Given the description of an element on the screen output the (x, y) to click on. 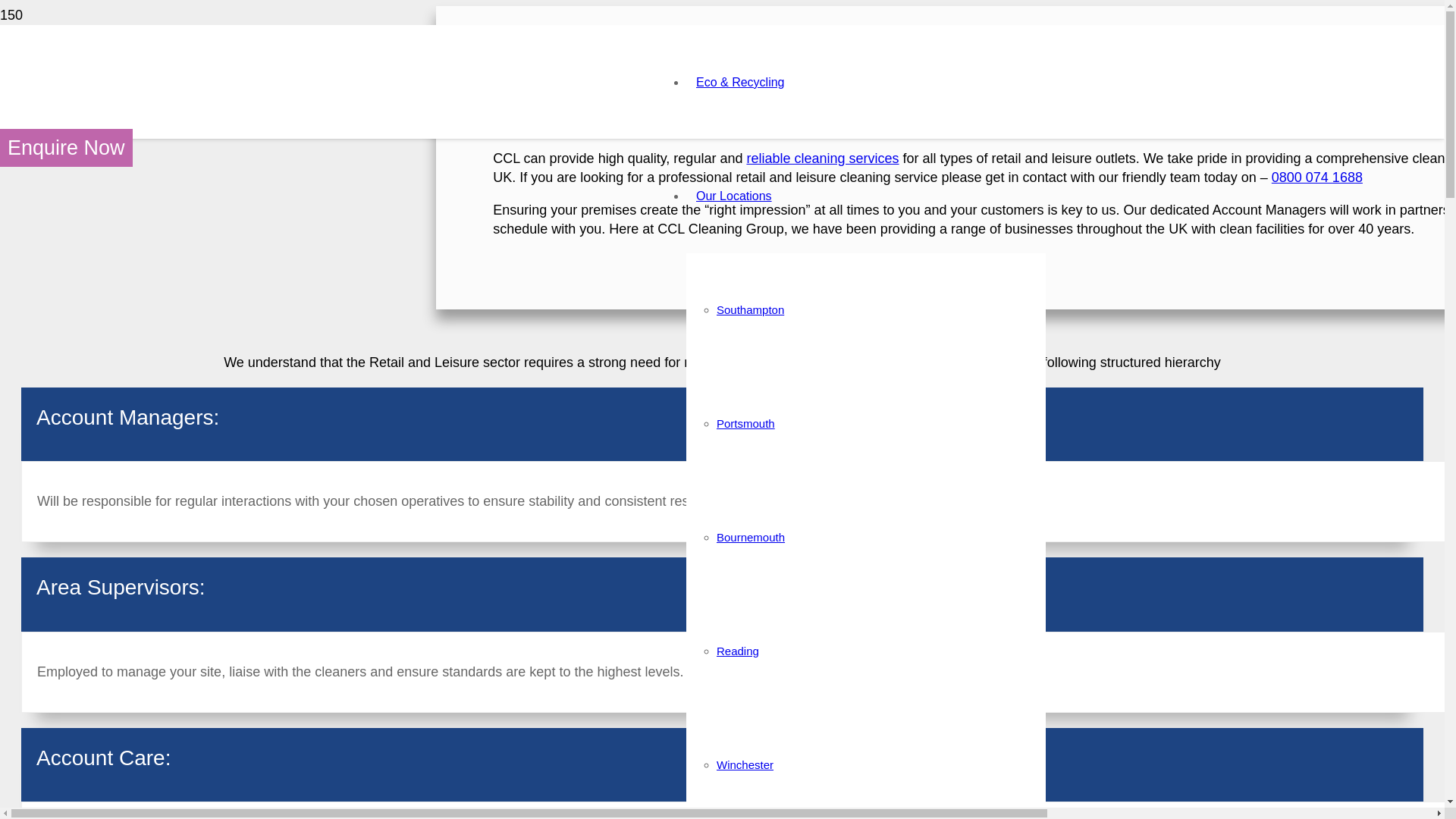
Reading (737, 650)
reliable cleaning services (821, 158)
0800 074 1688 (1316, 177)
Southampton (750, 309)
Our Locations (733, 195)
Portsmouth (745, 422)
Bournemouth (750, 536)
Winchester (744, 764)
